Given the description of an element on the screen output the (x, y) to click on. 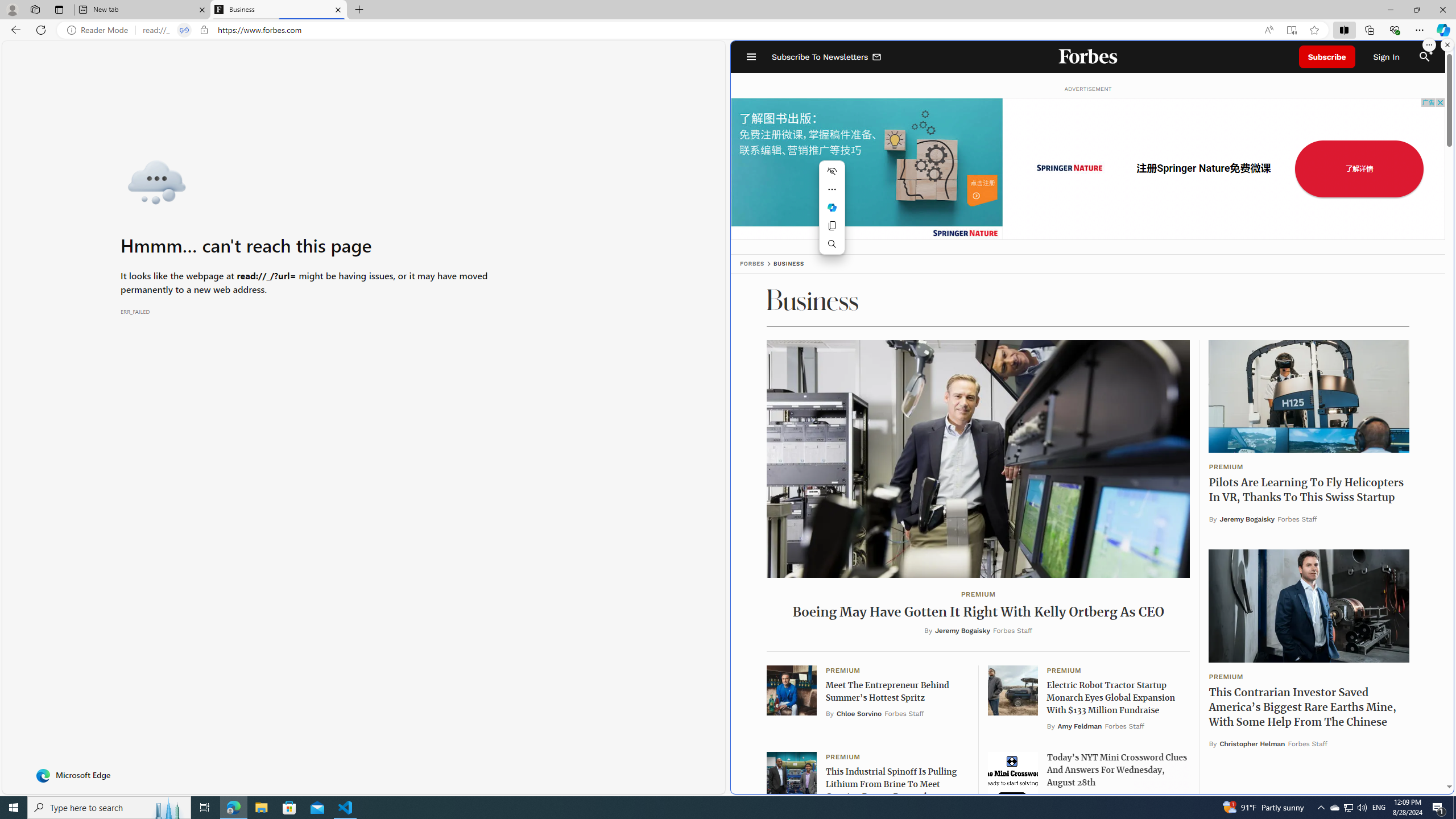
Boeing May Have Gotten It Right With Kelly Ortberg As CEO (978, 612)
Sign In (1386, 56)
Close split screen. (1447, 45)
App bar (728, 29)
Jeremy Bogaisky (1247, 519)
More options. (1428, 45)
Amy Feldman (1079, 726)
